Given the description of an element on the screen output the (x, y) to click on. 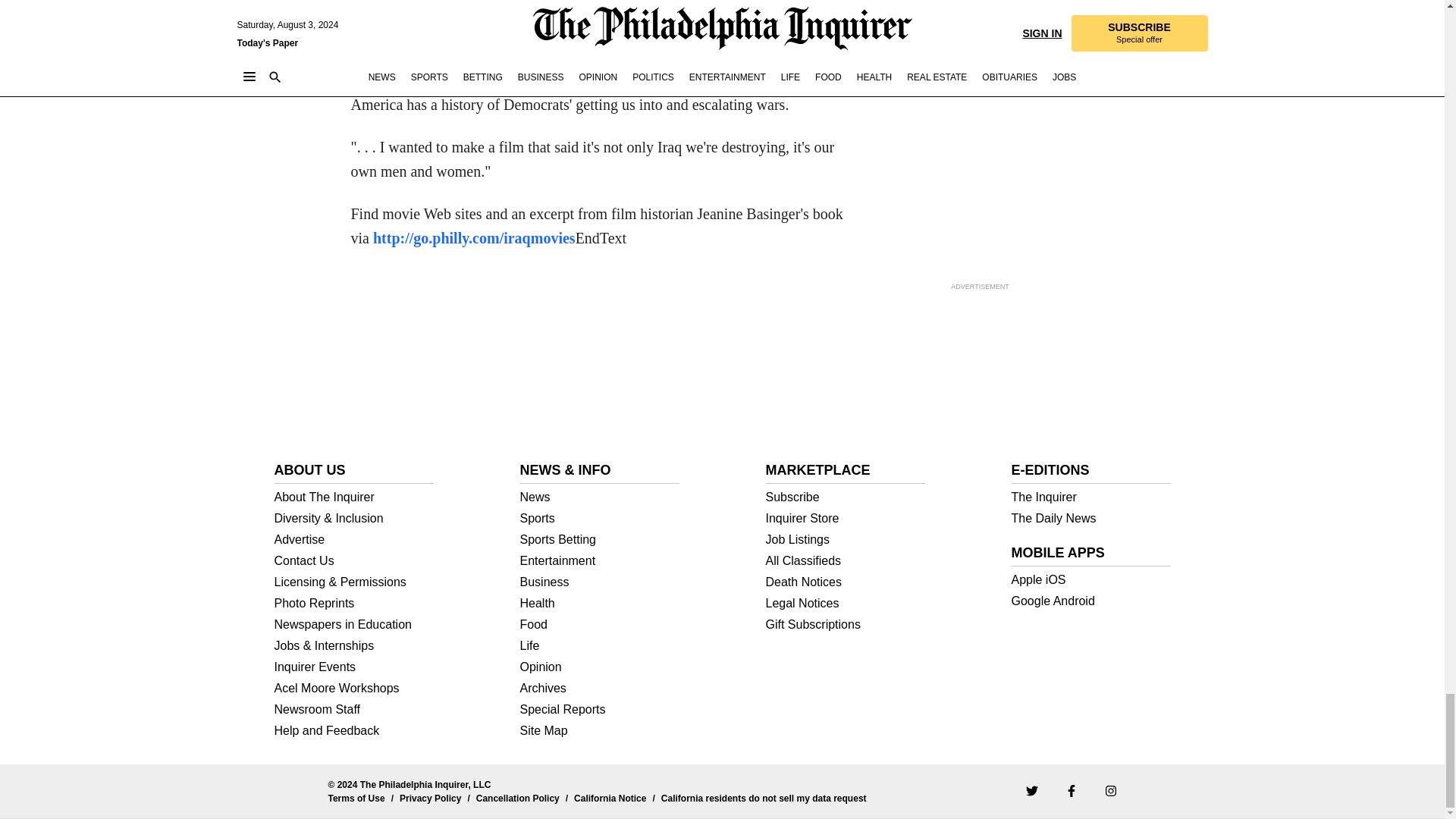
Instagram (1109, 790)
Twitter (1030, 790)
Advertise (354, 539)
About The Inquirer (354, 497)
Facebook (1070, 790)
Contact Us (354, 561)
